Given the description of an element on the screen output the (x, y) to click on. 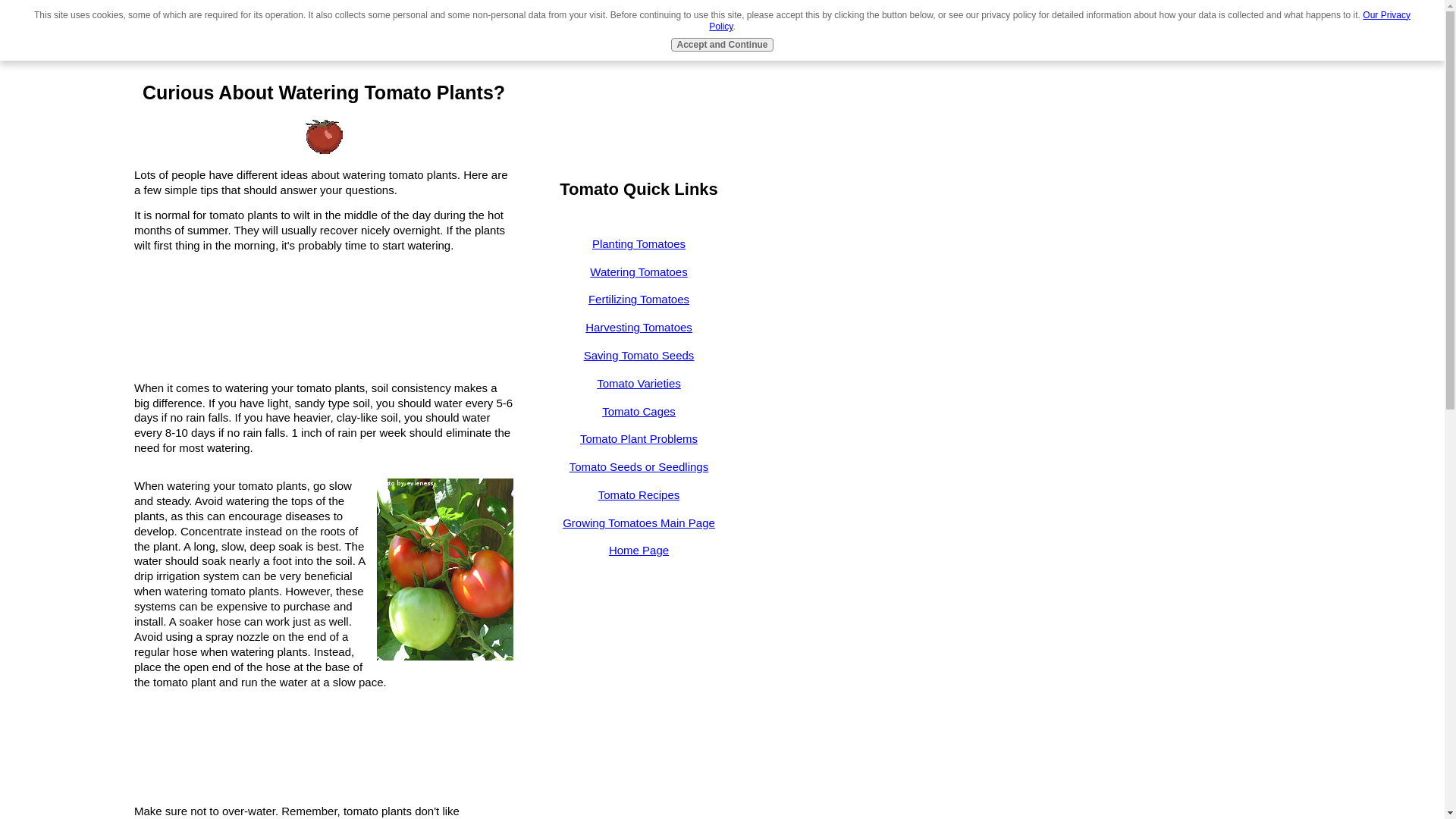
tomato icon (323, 135)
Fertilizing Tomatoes (638, 306)
Growing Tomatoes Main Page (638, 529)
Our Privacy Policy (1059, 20)
Tomato Plant Problems (638, 445)
Tomato Cages (638, 418)
Watering Tomatoes (638, 278)
Accept and Continue (722, 44)
Planting Tomatoes (638, 250)
Tomato Seeds or Seedlings (638, 473)
